Given the description of an element on the screen output the (x, y) to click on. 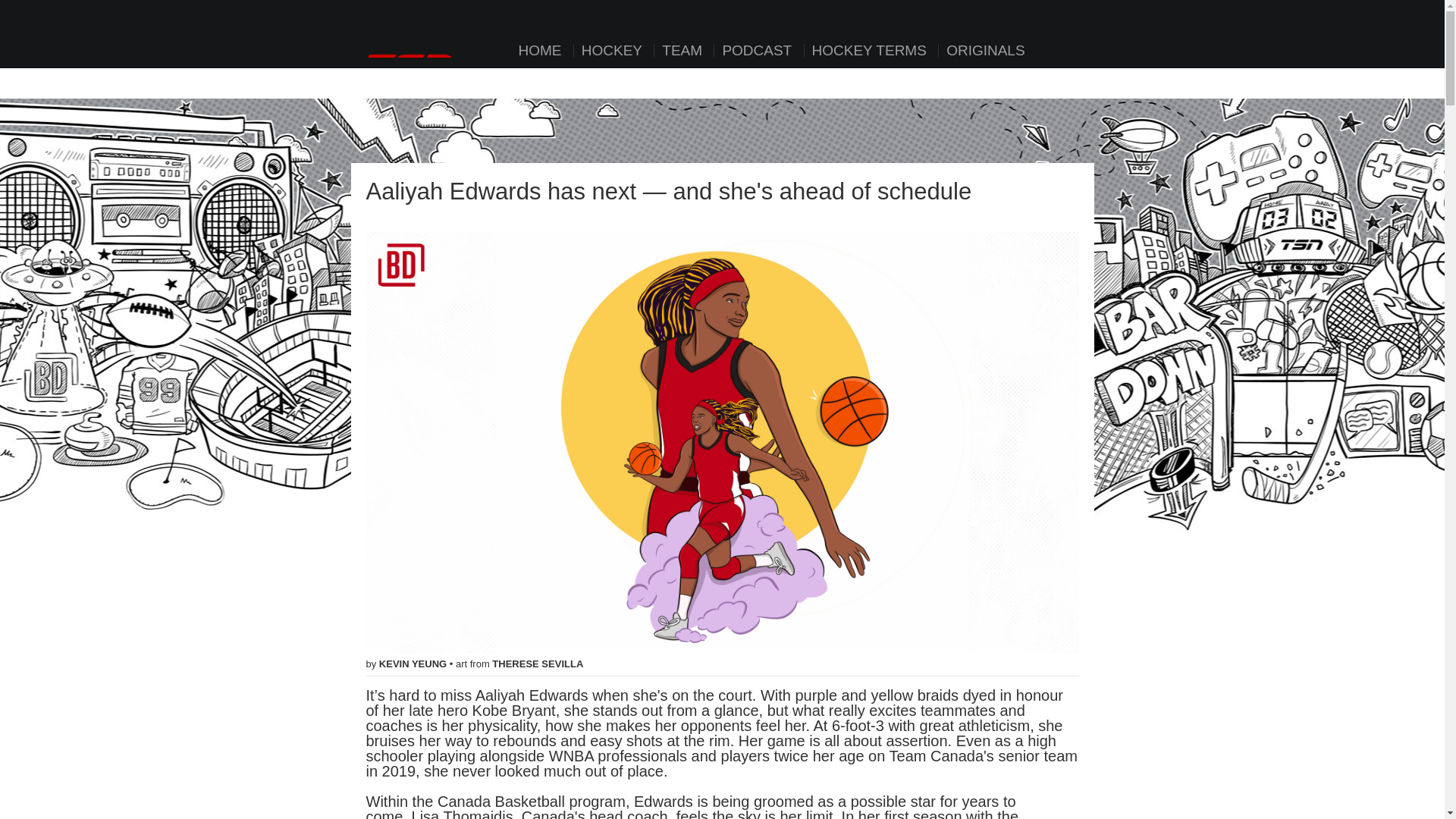
PODCAST (756, 50)
HOME (540, 50)
TEAM (681, 50)
HOCKEY TERMS (868, 50)
Bardown (438, 28)
Bardown (438, 28)
3rd party ad content (721, 117)
HOCKEY (611, 50)
ORIGINALS (984, 50)
